Given the description of an element on the screen output the (x, y) to click on. 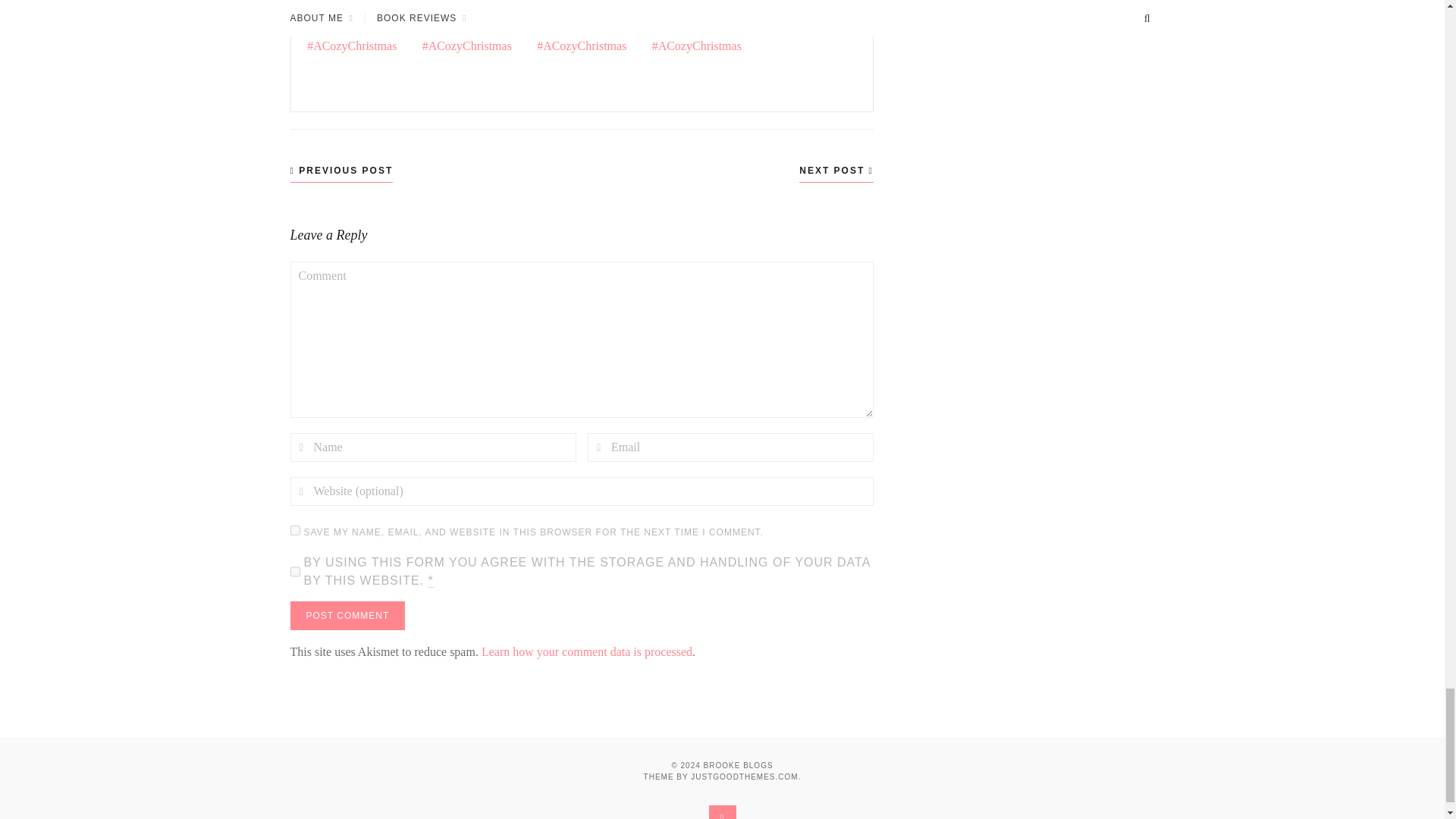
1 (294, 571)
You need to accept this checkbox (430, 581)
yes (294, 530)
Post Comment (346, 615)
